Given the description of an element on the screen output the (x, y) to click on. 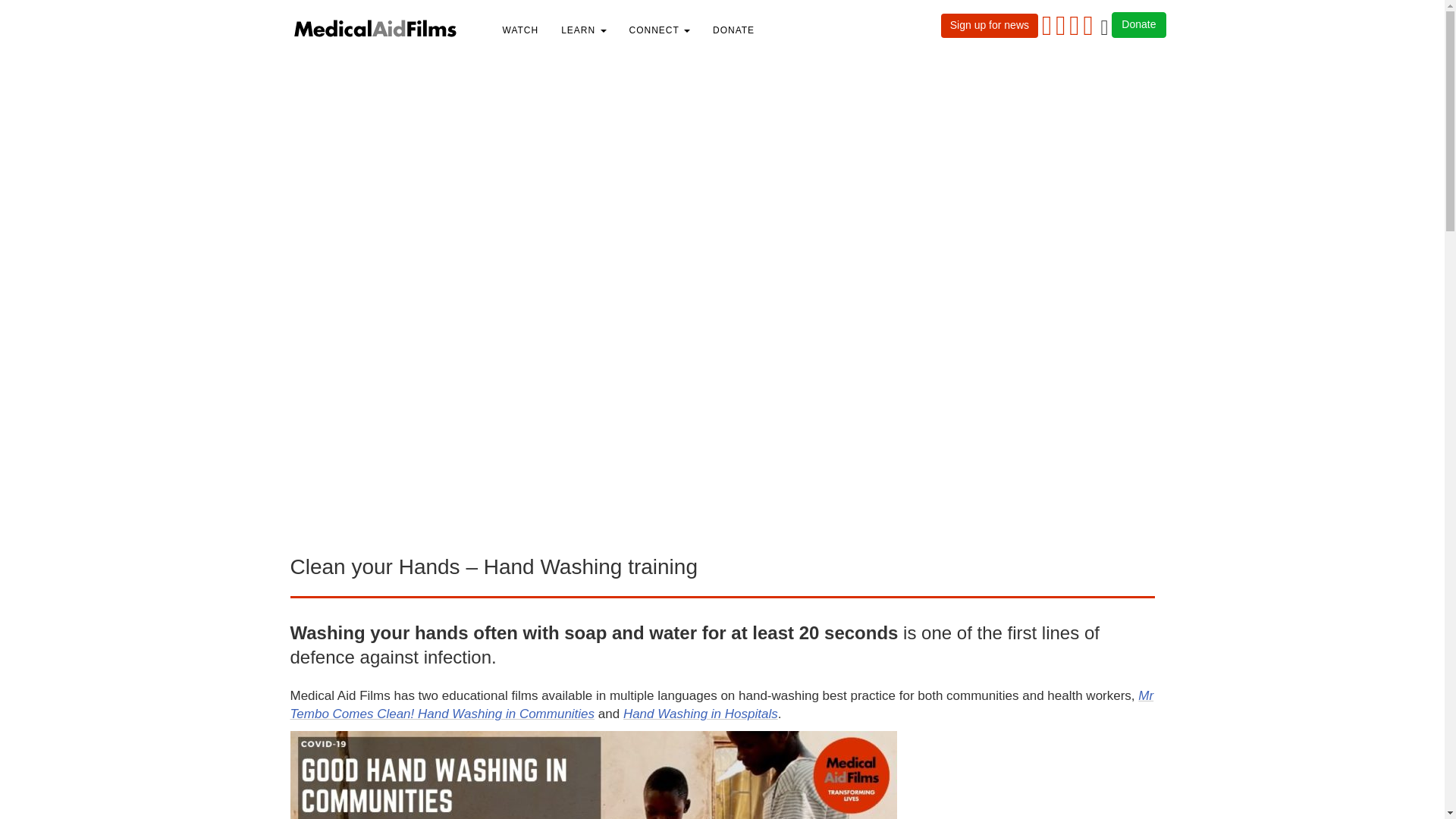
CONNECT (659, 30)
Learn (583, 30)
WATCH (521, 30)
Watch (521, 30)
Mr Tembo Comes Clean! Hand Washing in Communities (721, 704)
Donate (1139, 24)
DONATE (733, 30)
Sign up for news (989, 25)
Connect (659, 30)
Hand Washing in Hospitals (700, 713)
